Given the description of an element on the screen output the (x, y) to click on. 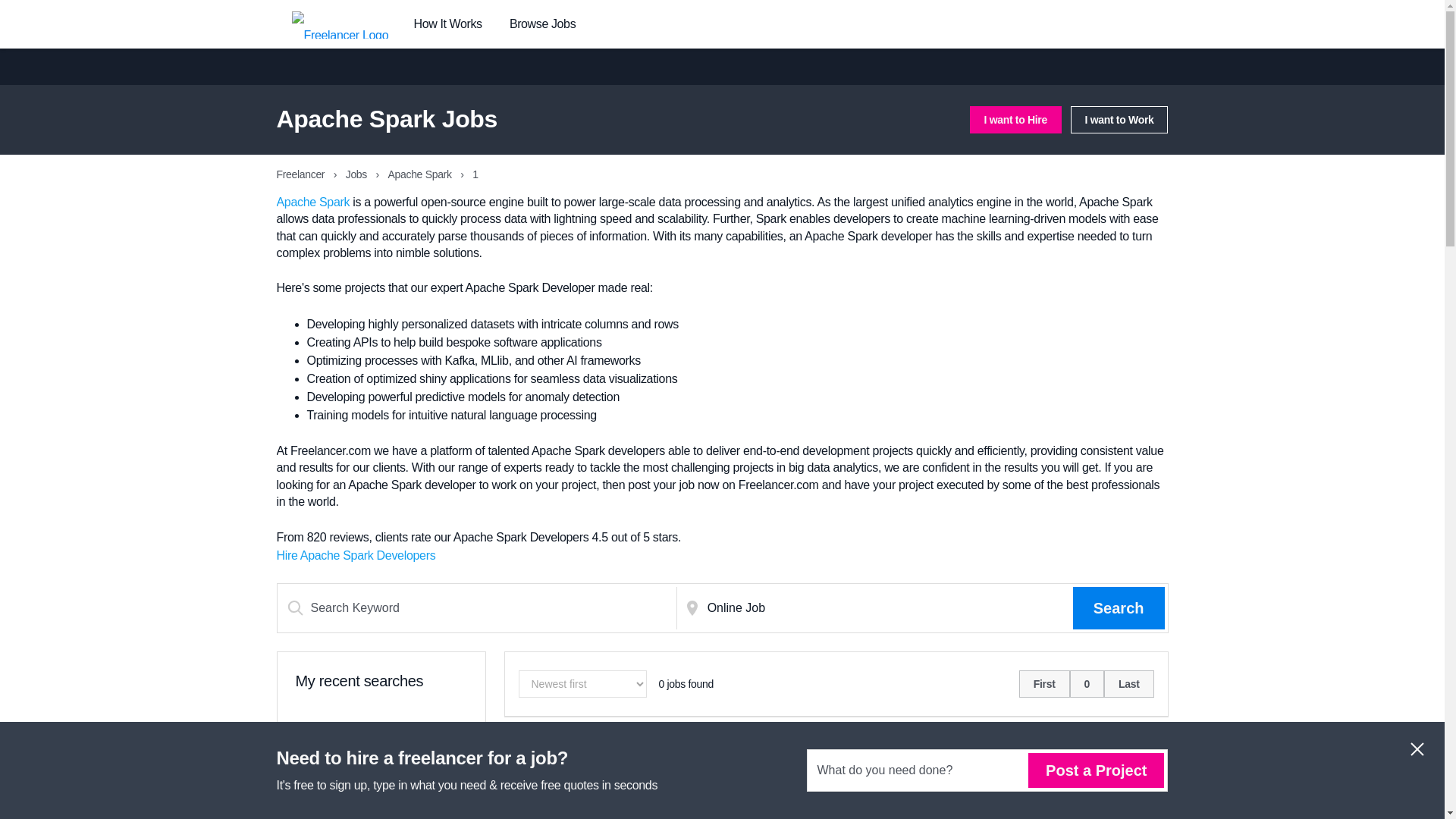
Freelancer (301, 174)
I want to Hire (1015, 119)
First (1058, 748)
Search (1118, 608)
I want to Work (1119, 119)
Last (1128, 683)
Last (1143, 748)
How It Works (447, 24)
0 (1086, 683)
Hire Apache Spark Developers (355, 554)
First (1044, 683)
Apache Spark (312, 201)
Online Job (887, 608)
Apache Spark (421, 174)
0 (1101, 748)
